Given the description of an element on the screen output the (x, y) to click on. 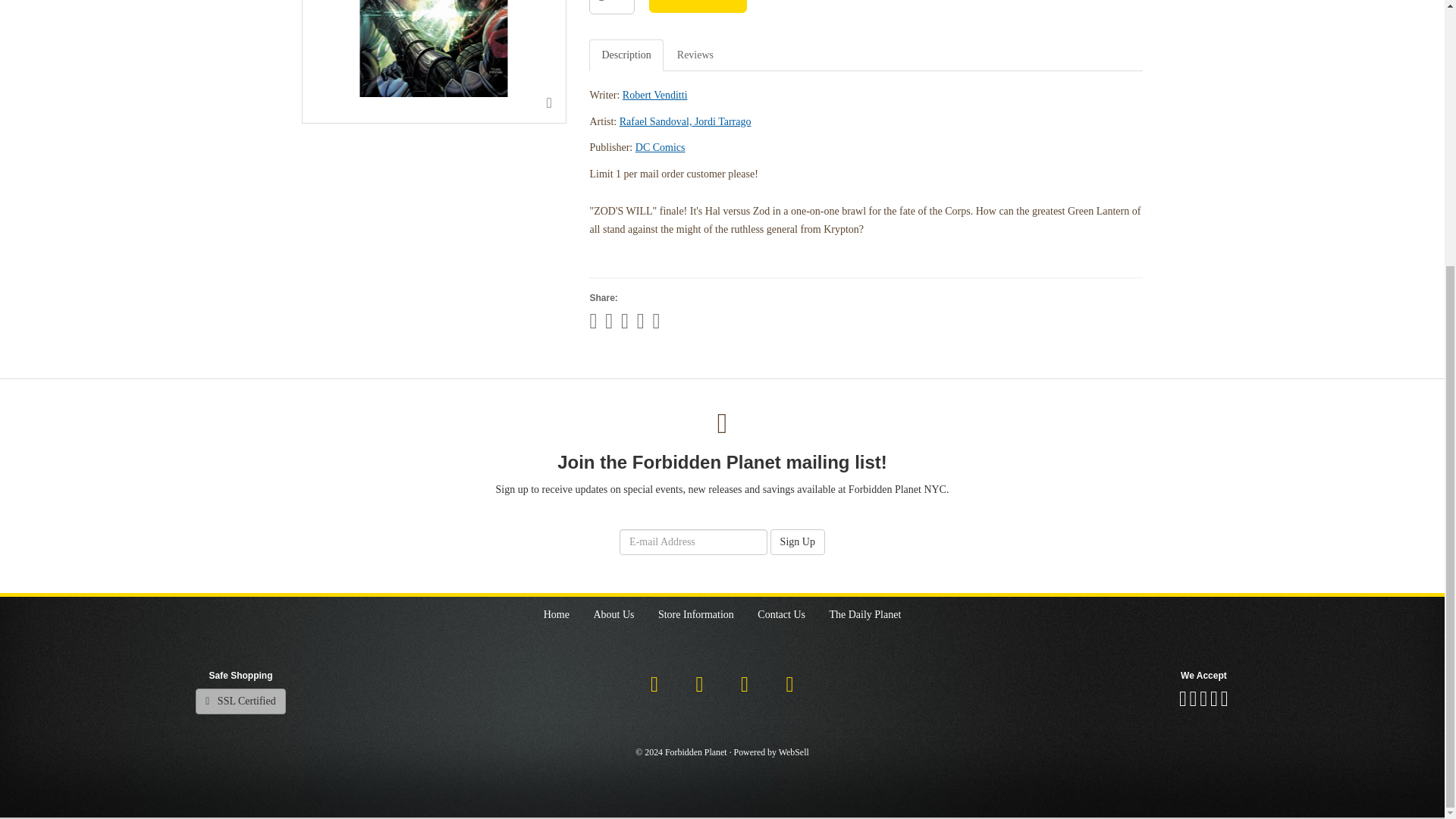
1 (611, 7)
